Given the description of an element on the screen output the (x, y) to click on. 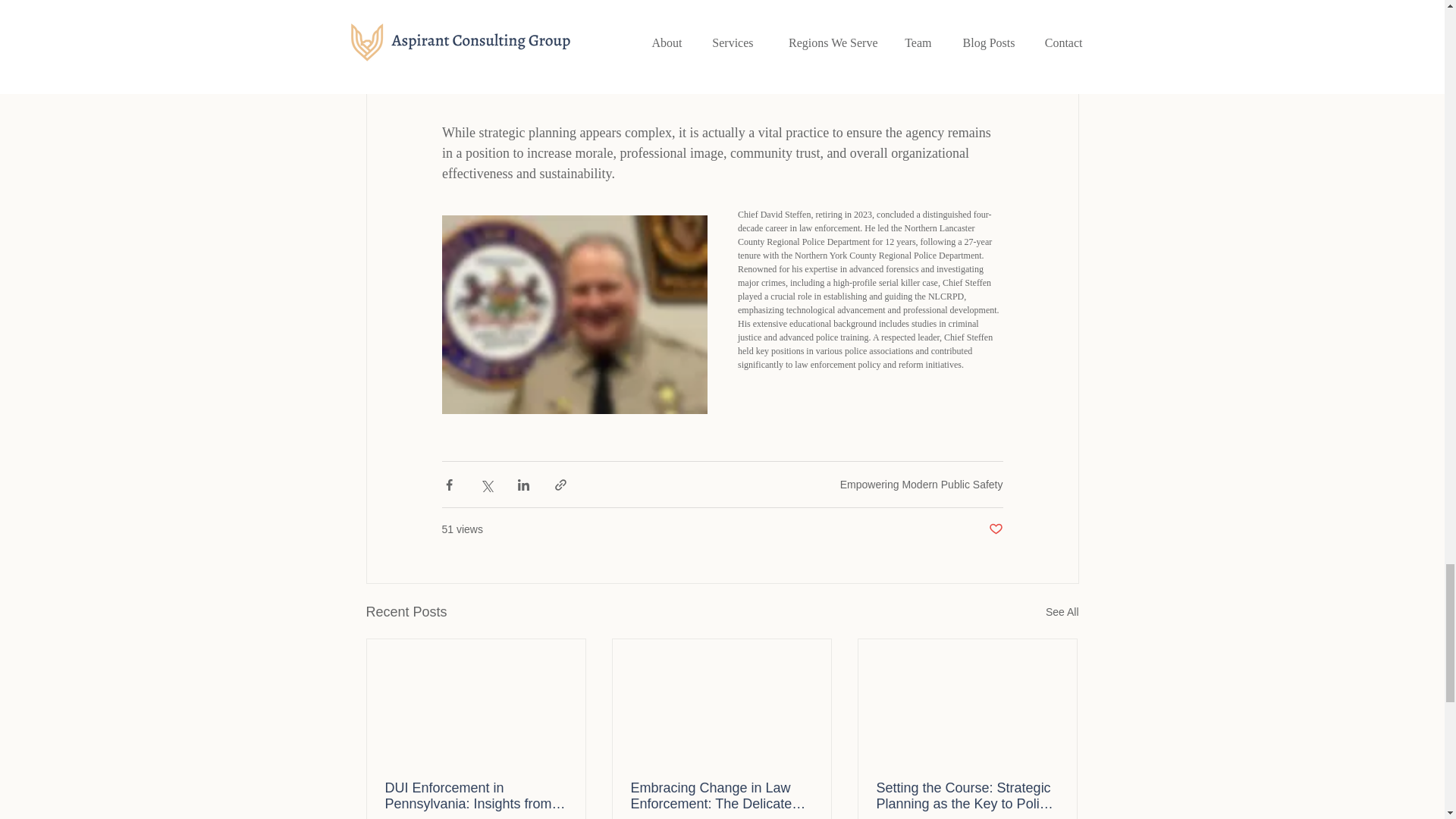
Post not marked as liked (995, 529)
Empowering Modern Public Safety (921, 484)
See All (1061, 612)
